Given the description of an element on the screen output the (x, y) to click on. 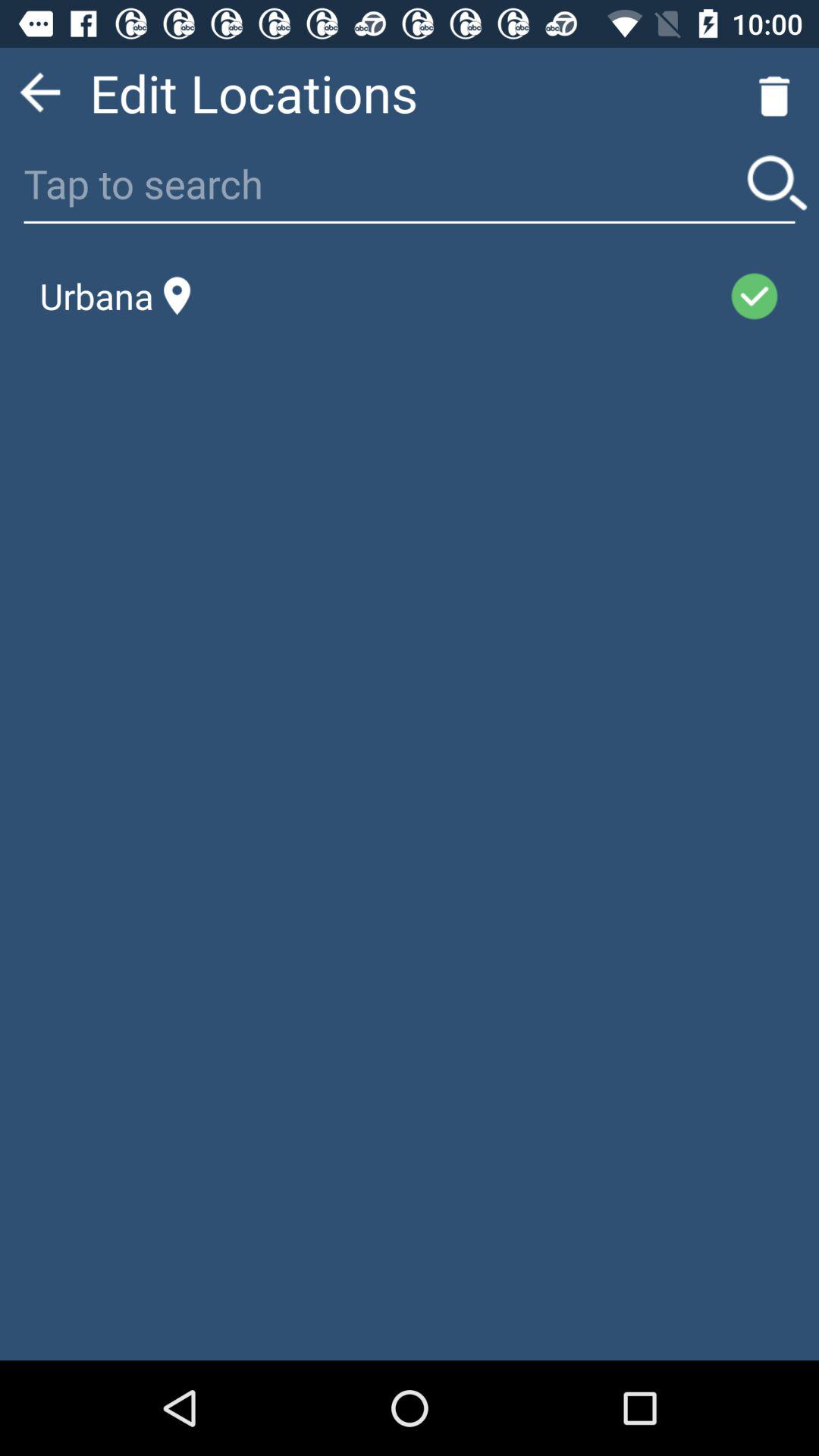
trash (773, 92)
